Given the description of an element on the screen output the (x, y) to click on. 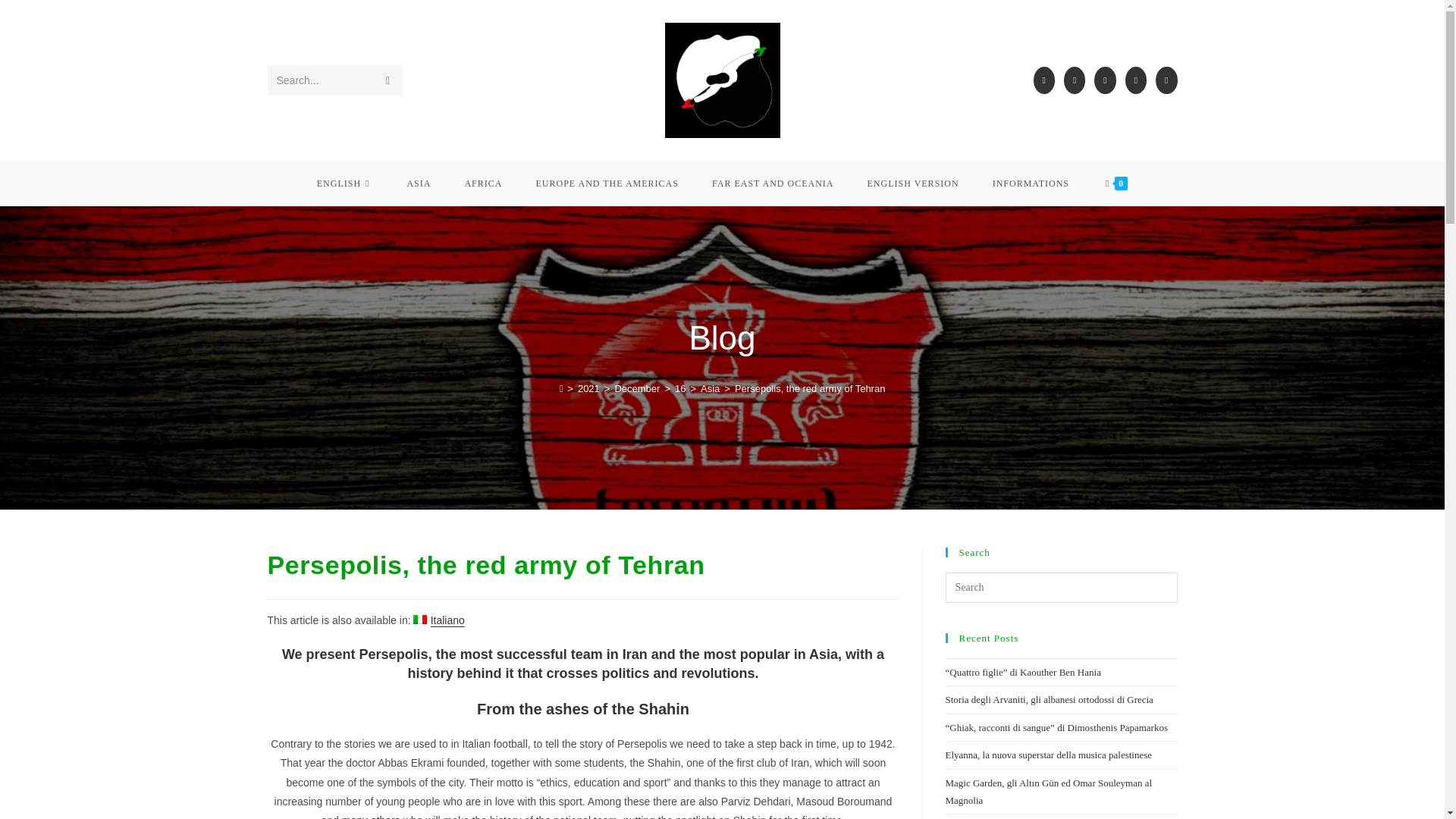
Persepolis, the red army of Tehran (810, 388)
Italiano (438, 620)
0 (1116, 183)
2021 (588, 388)
many others (371, 816)
Asia (709, 388)
December (636, 388)
16 (680, 388)
INFORMATIONS (1030, 183)
EUROPE AND THE AMERICAS (606, 183)
AFRICA (482, 183)
ENGLISH (344, 183)
Submit search (386, 80)
FAR EAST AND OCEANIA (772, 183)
ASIA (418, 183)
